Given the description of an element on the screen output the (x, y) to click on. 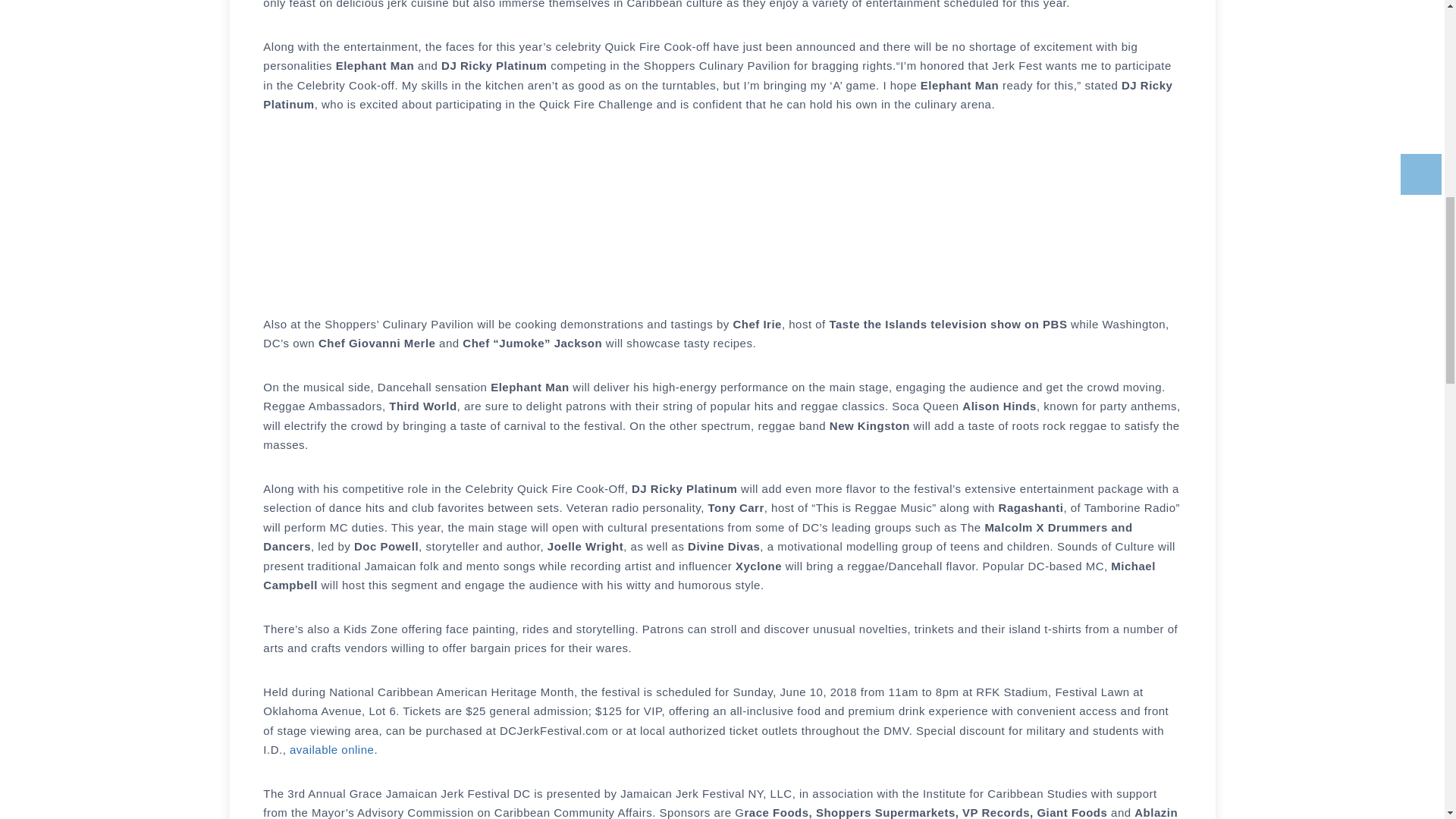
available online (331, 748)
